Given the description of an element on the screen output the (x, y) to click on. 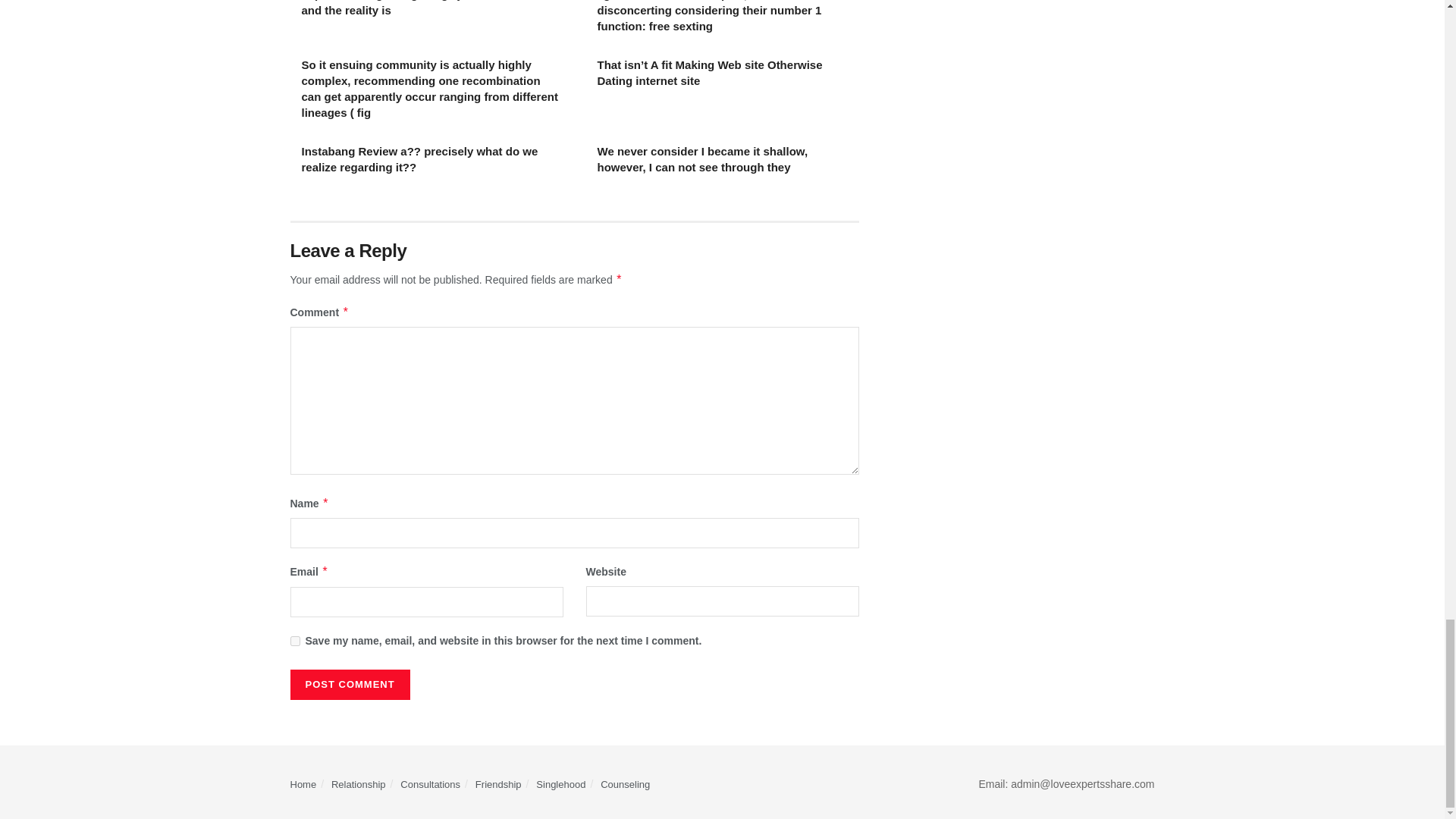
yes (294, 640)
Post Comment (349, 684)
